Given the description of an element on the screen output the (x, y) to click on. 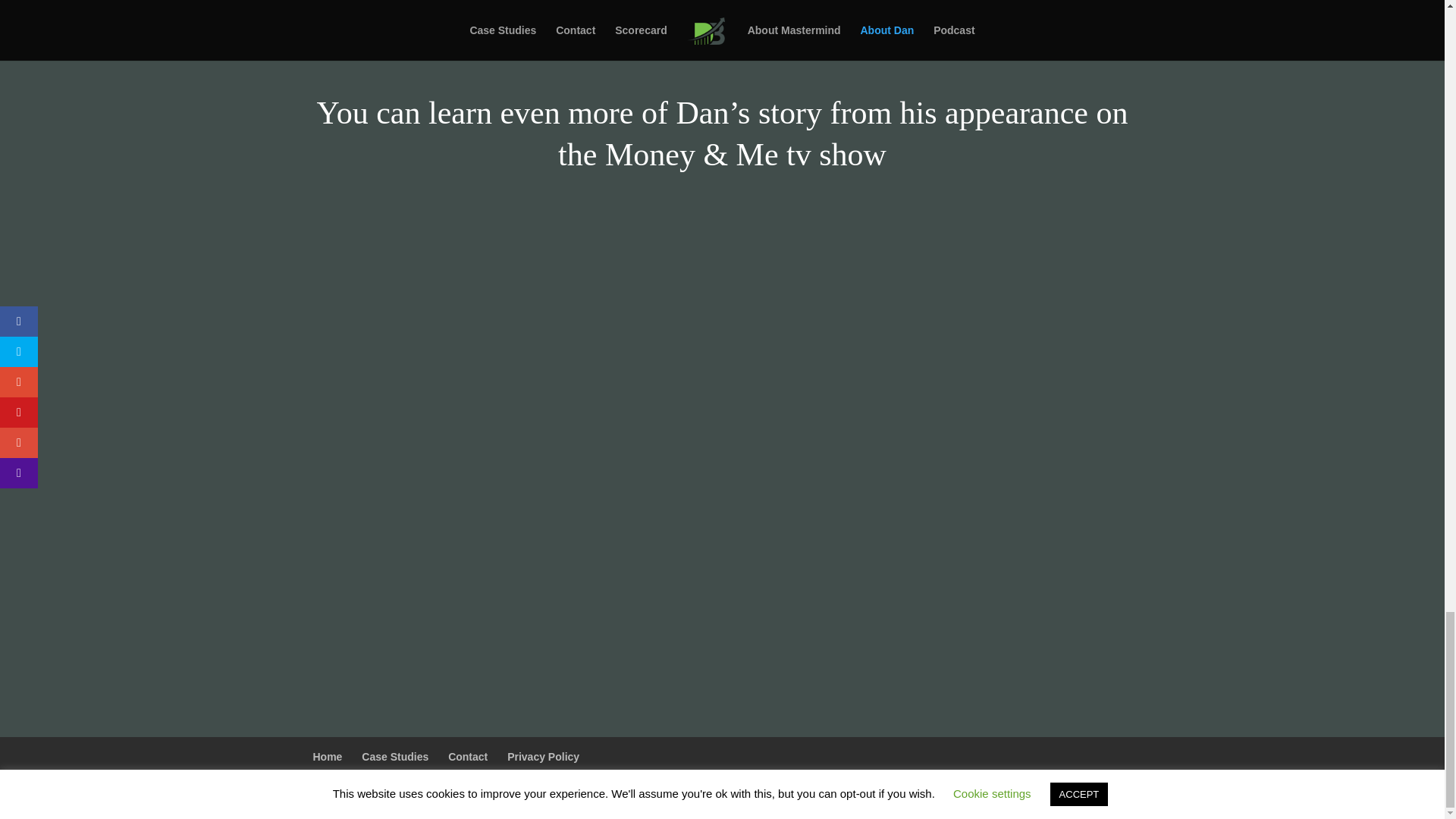
Case Studies (394, 756)
Privacy Policy (542, 756)
Home (327, 756)
Contact (467, 756)
